Given the description of an element on the screen output the (x, y) to click on. 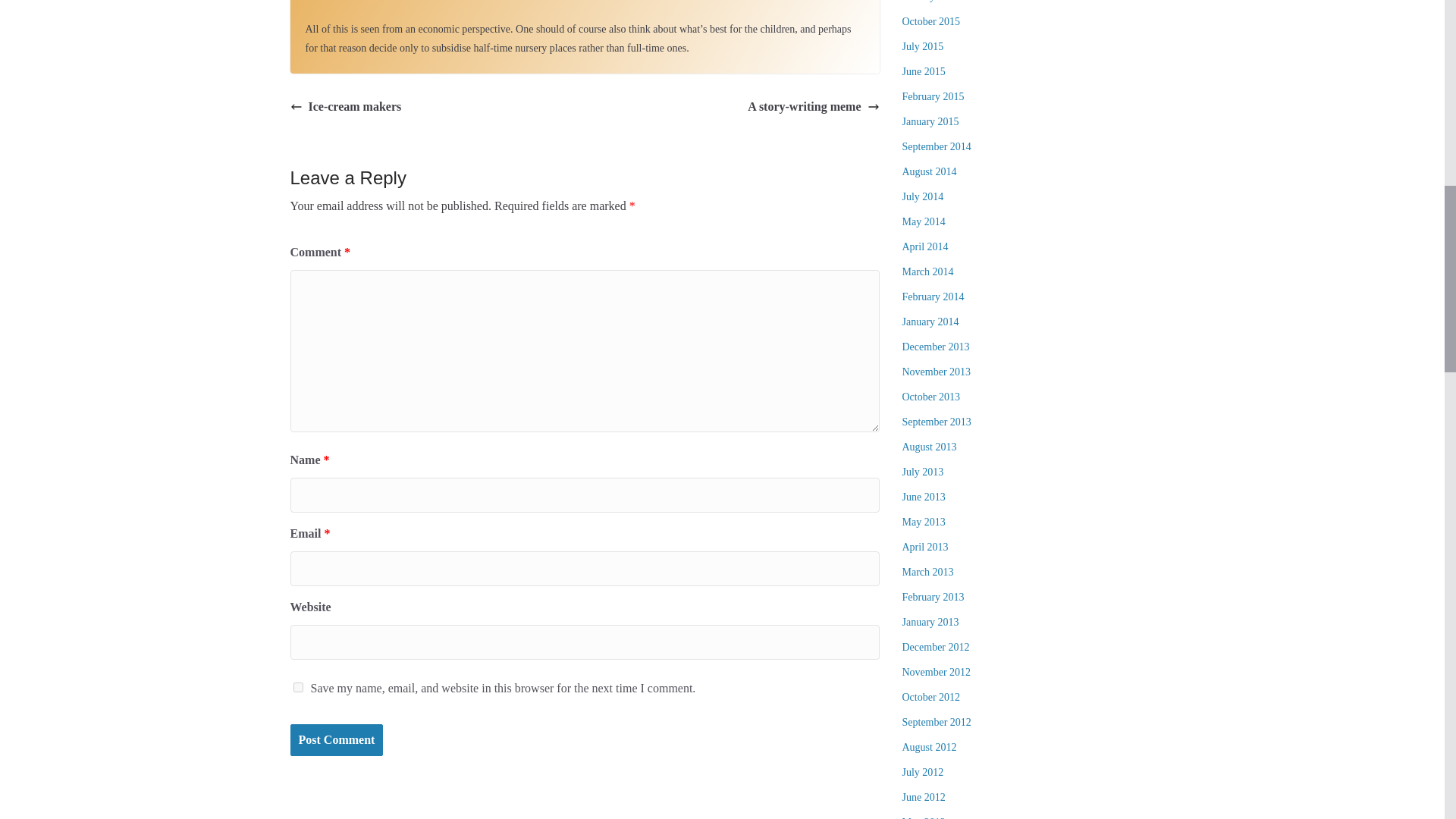
A story-writing meme (813, 106)
Post Comment (335, 739)
Ice-cream makers (345, 106)
yes (297, 687)
Post Comment (335, 739)
